Given the description of an element on the screen output the (x, y) to click on. 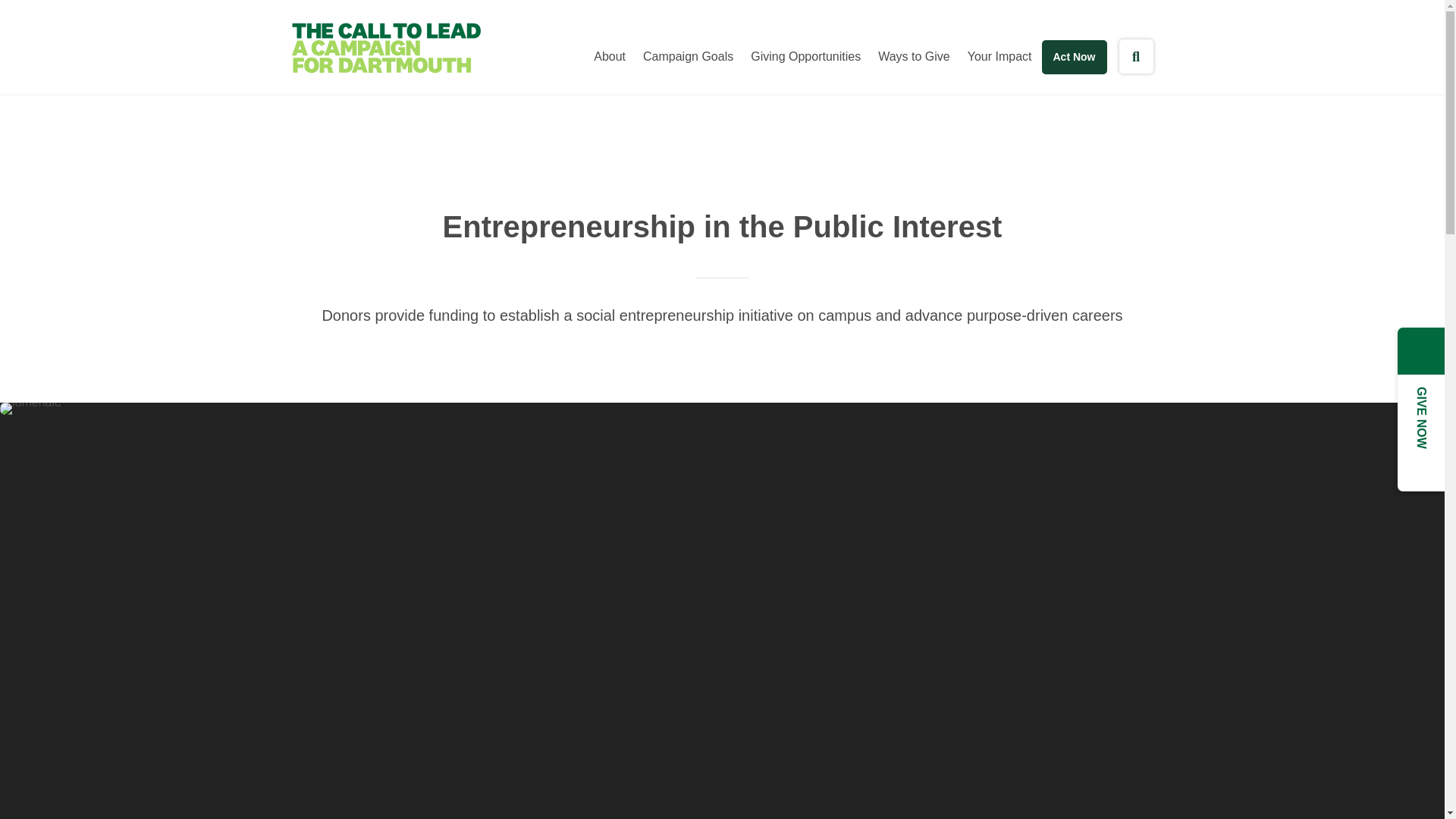
Give now (1074, 57)
Ways to Give (914, 56)
About (609, 56)
Act Now (1074, 57)
Dartmouth Campaign Logo (385, 47)
Dartmouth Campaign Logo (385, 47)
Campaign Goals (687, 56)
Your Impact (999, 56)
